Given the description of an element on the screen output the (x, y) to click on. 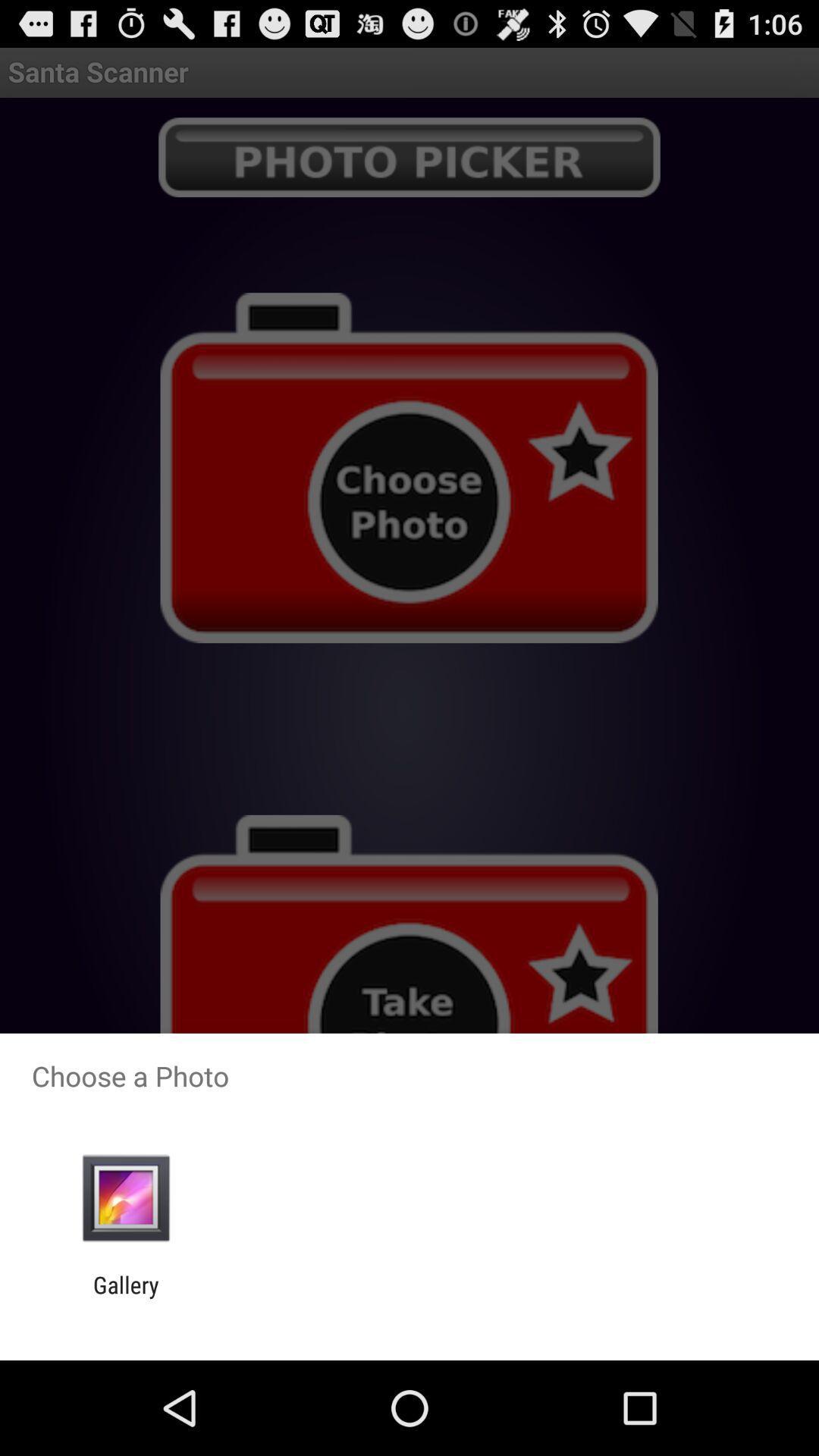
turn off gallery item (126, 1298)
